Given the description of an element on the screen output the (x, y) to click on. 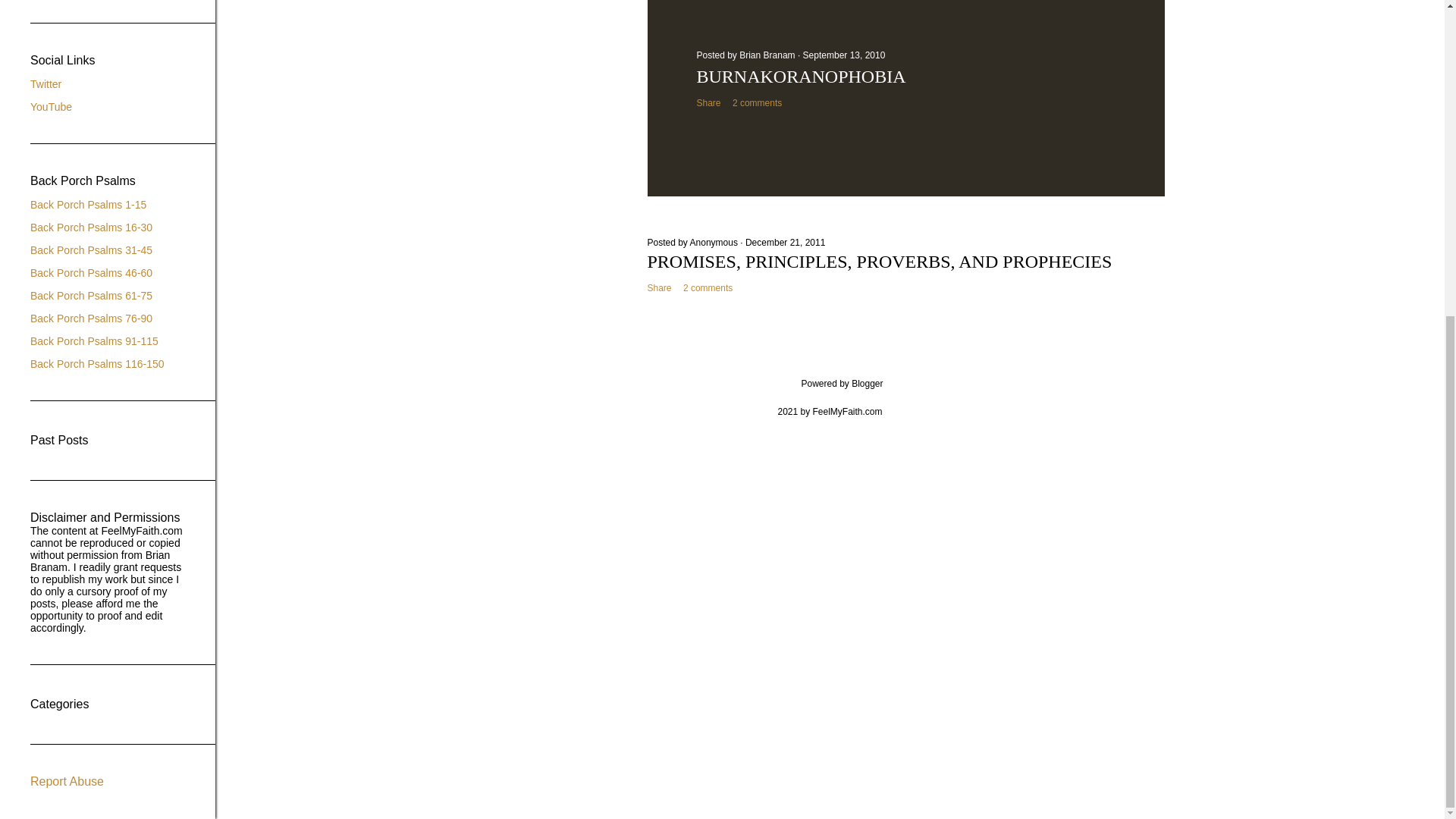
BURNAKORANOPHOBIA (800, 76)
2 comments (756, 102)
PROMISES, PRINCIPLES, PROVERBS, AND PROPHECIES (879, 261)
author profile (768, 54)
Share (659, 287)
Share (707, 102)
2 comments (707, 287)
September 13, 2010 (844, 54)
Brian Branam (768, 54)
December 21, 2011 (785, 242)
